Given the description of an element on the screen output the (x, y) to click on. 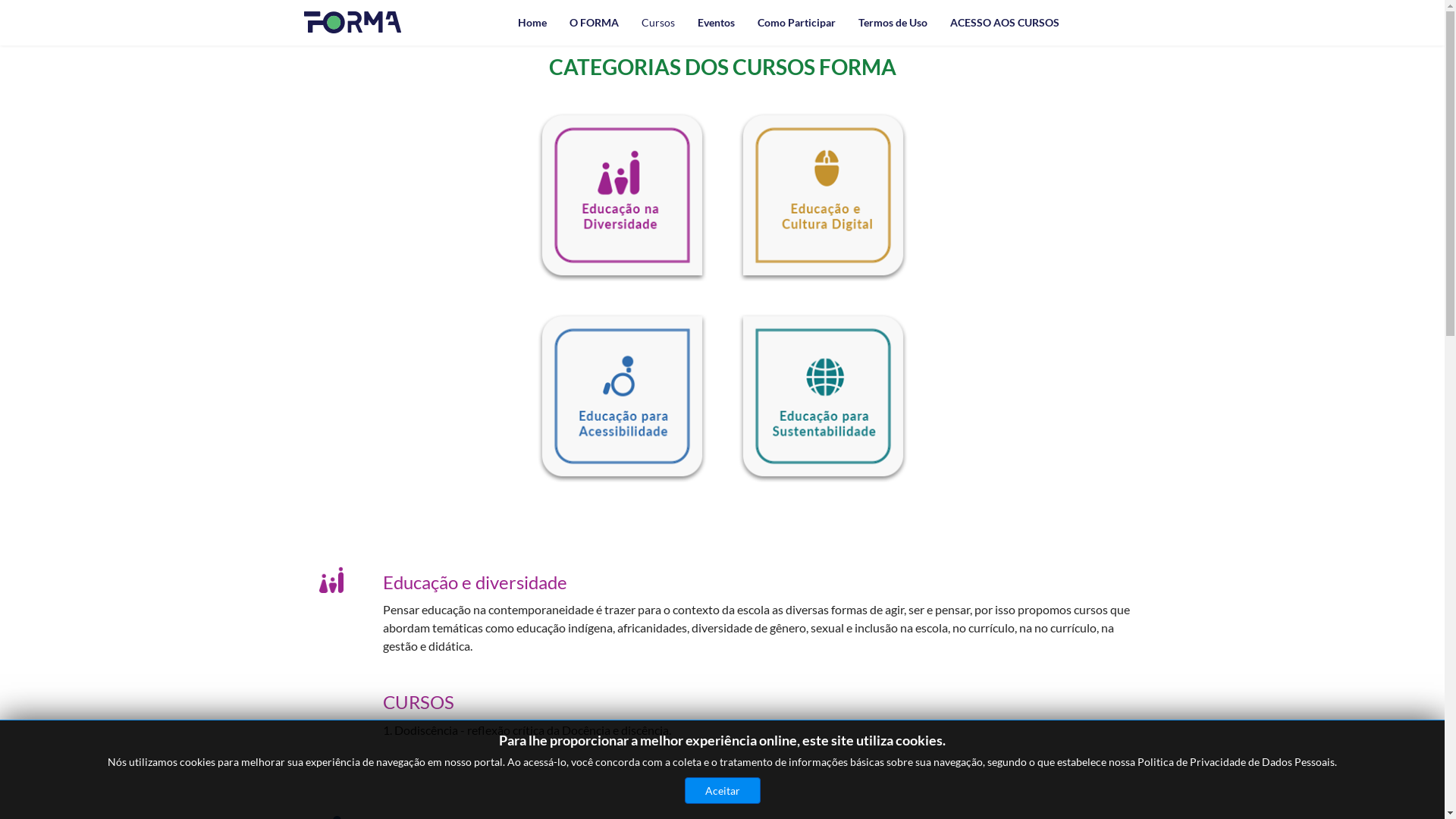
Politica de Privacidade de Dados Pessoais Element type: text (1235, 761)
Termos de Uso Element type: text (892, 22)
ACESSO AOS CURSOS Element type: text (1004, 22)
O FORMA Element type: text (594, 22)
Home Element type: text (532, 22)
Eventos Element type: text (715, 22)
Cursos Element type: text (657, 22)
Como Participar Element type: text (796, 22)
